Given the description of an element on the screen output the (x, y) to click on. 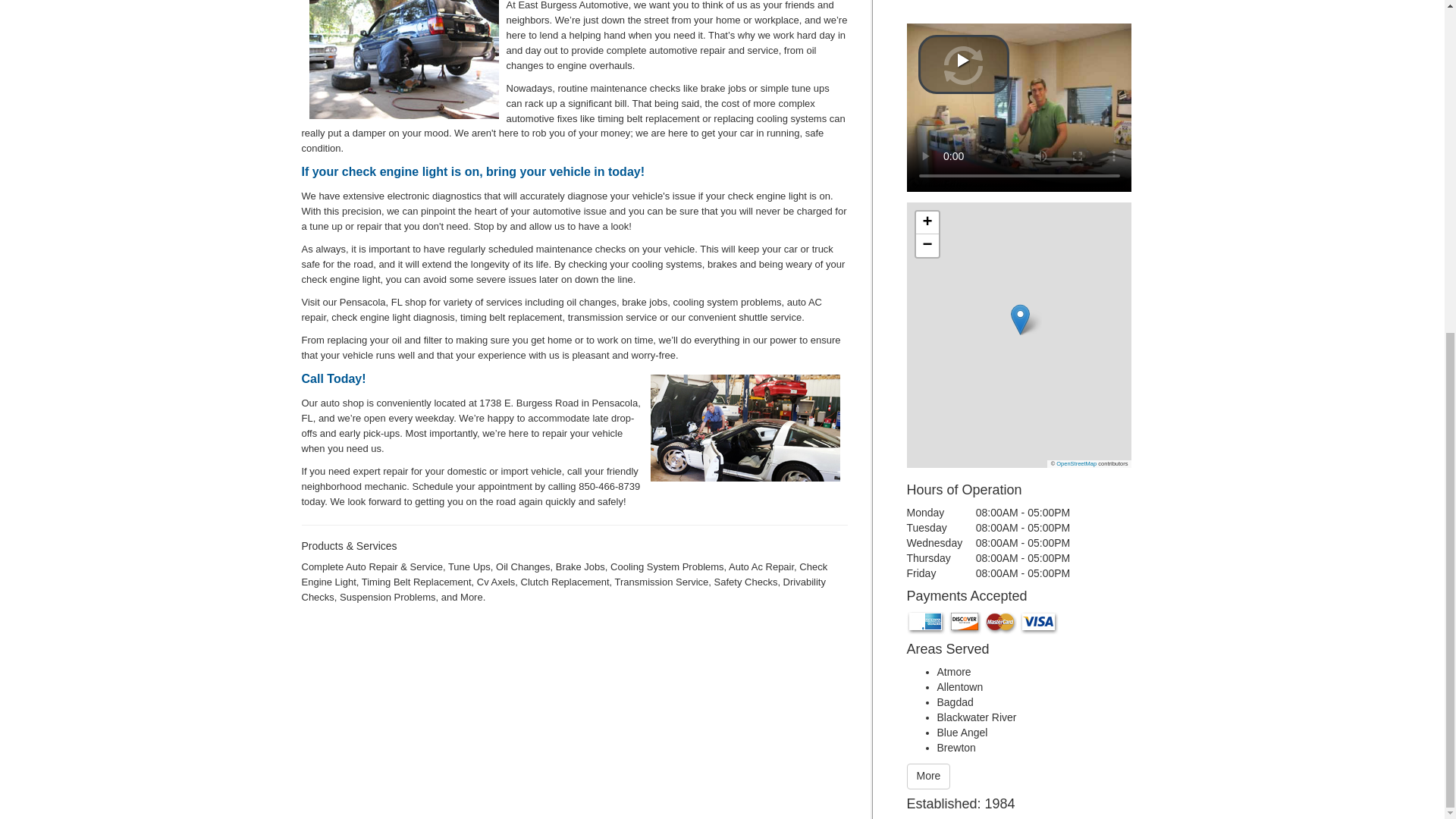
Brake Jobs Pensacola, FL (403, 59)
More (928, 776)
3 (745, 427)
Zoom in (927, 222)
OpenStreetMap (1076, 463)
Zoom out (927, 245)
